Given the description of an element on the screen output the (x, y) to click on. 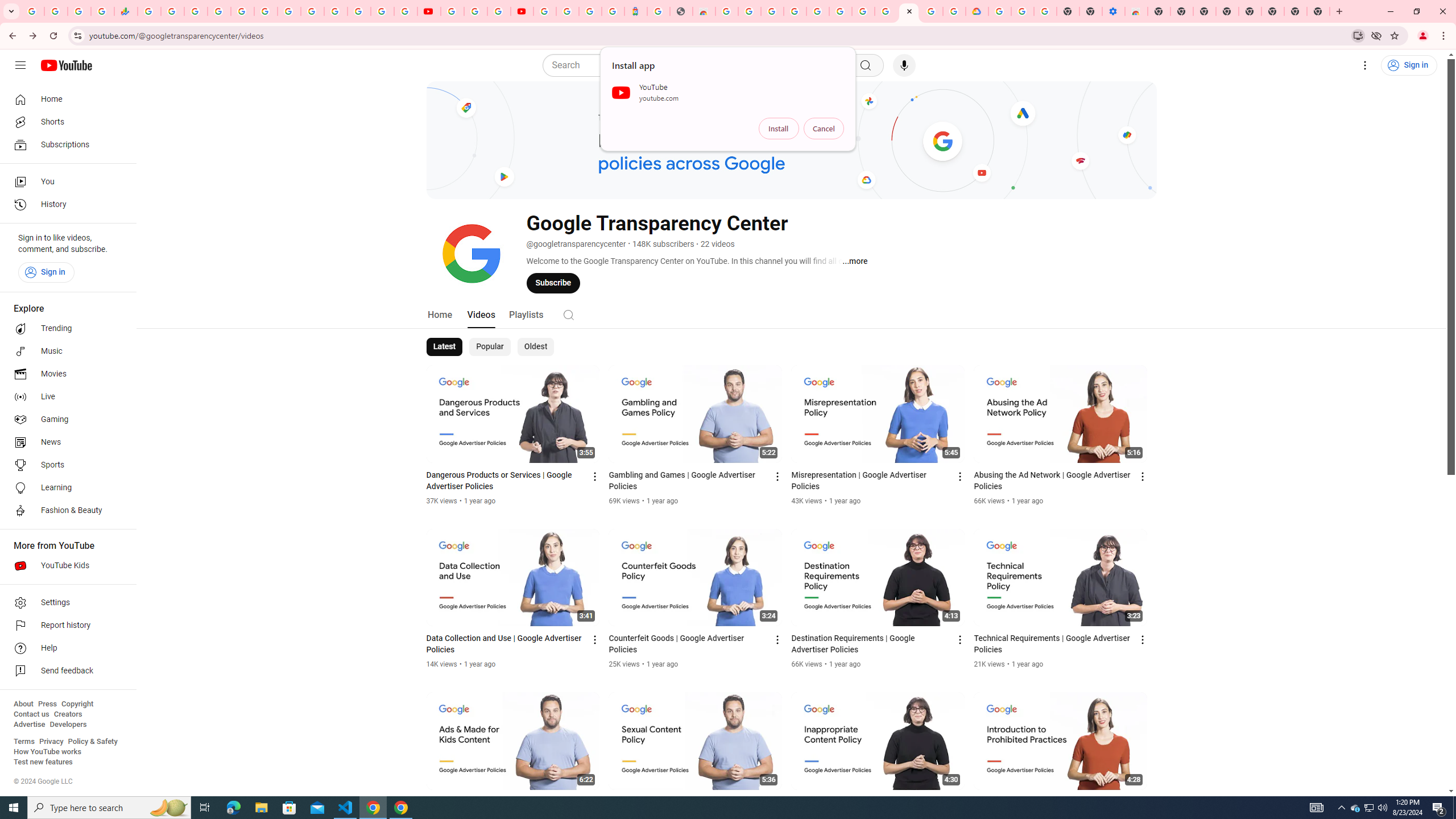
Browse the Google Chrome Community - Google Chrome Community (954, 11)
Android TV Policies and Guidelines - Transparency Center (885, 11)
New Tab (1158, 11)
About (23, 703)
Sign in - Google Accounts (381, 11)
Copyright (77, 703)
Content Creator Programs & Opportunities - YouTube Creators (521, 11)
Videos (481, 314)
Google Account Help (475, 11)
